Given the description of an element on the screen output the (x, y) to click on. 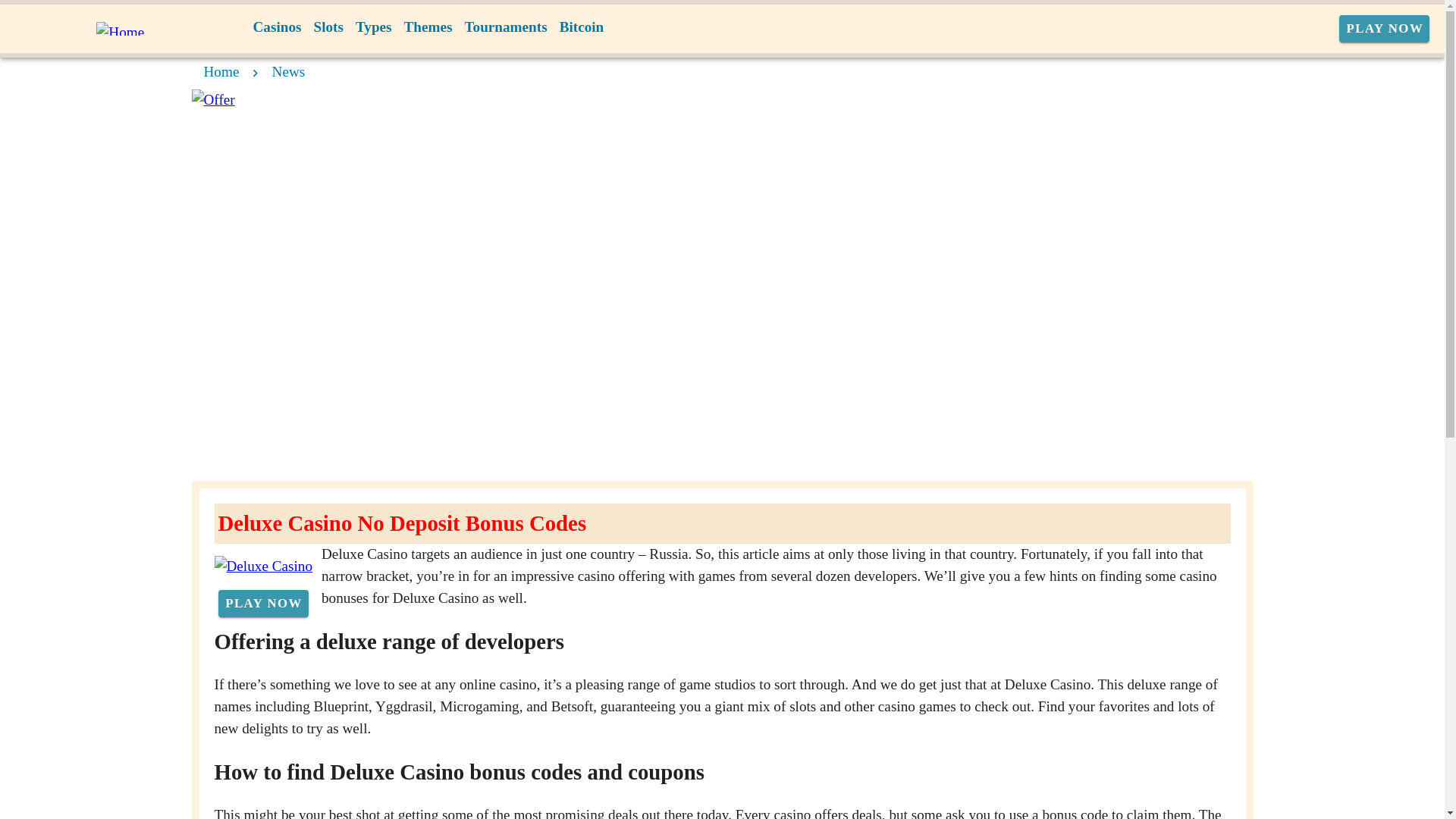
PLAY NOW (1384, 28)
PLAY NOW (263, 603)
News (288, 71)
Bitcoin (581, 27)
Casinos (277, 27)
Slots (328, 27)
Tournaments (505, 27)
Home (220, 71)
Themes (427, 27)
Types (373, 27)
